Given the description of an element on the screen output the (x, y) to click on. 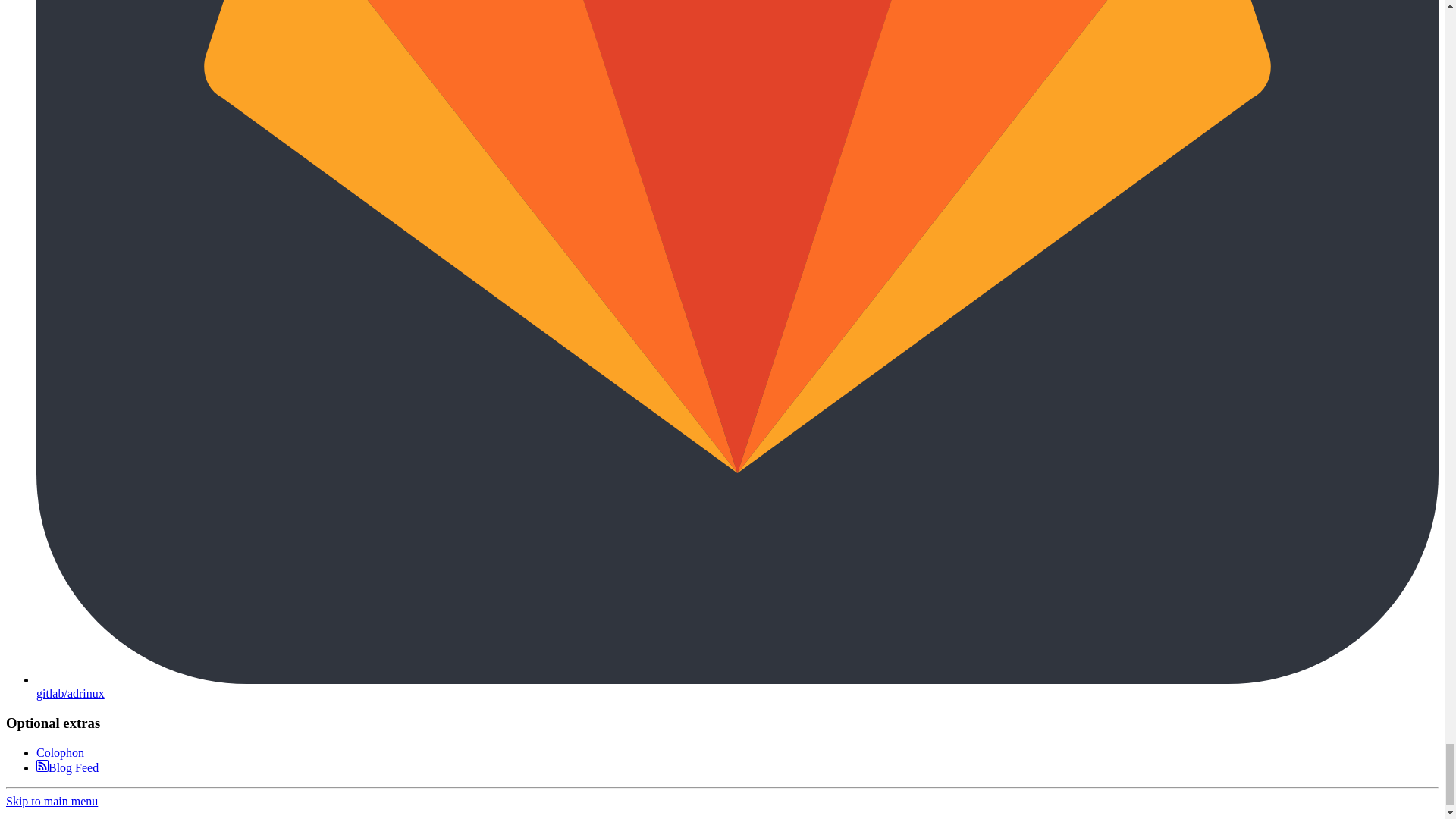
Skip to main menu (51, 800)
Blog Feed (67, 767)
RSS Feed for The Blog at perlucida.co.uk (67, 767)
Colophon (60, 752)
